Given the description of an element on the screen output the (x, y) to click on. 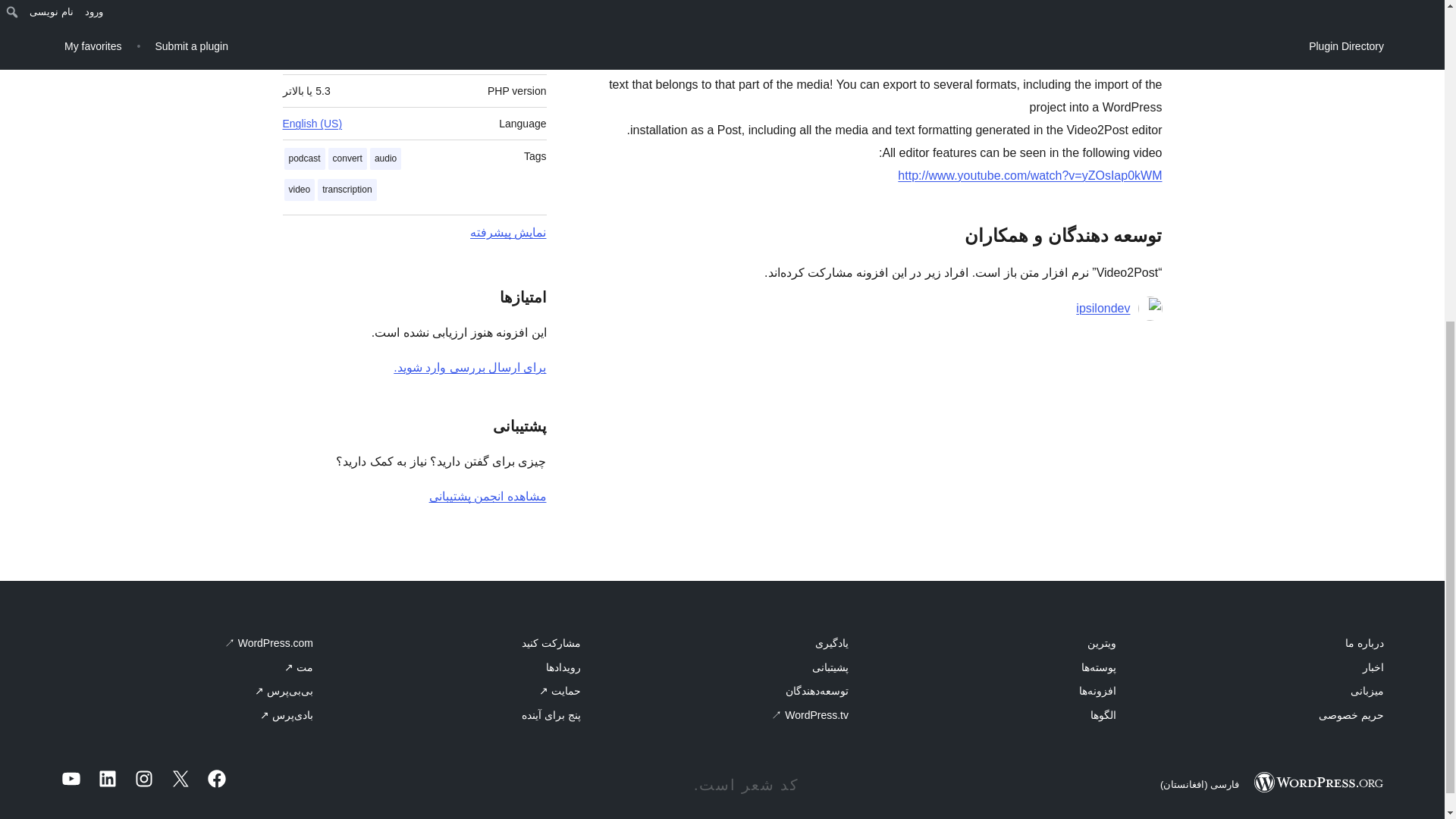
WordPress.org (1318, 782)
ipsilondev (1102, 308)
